Given the description of an element on the screen output the (x, y) to click on. 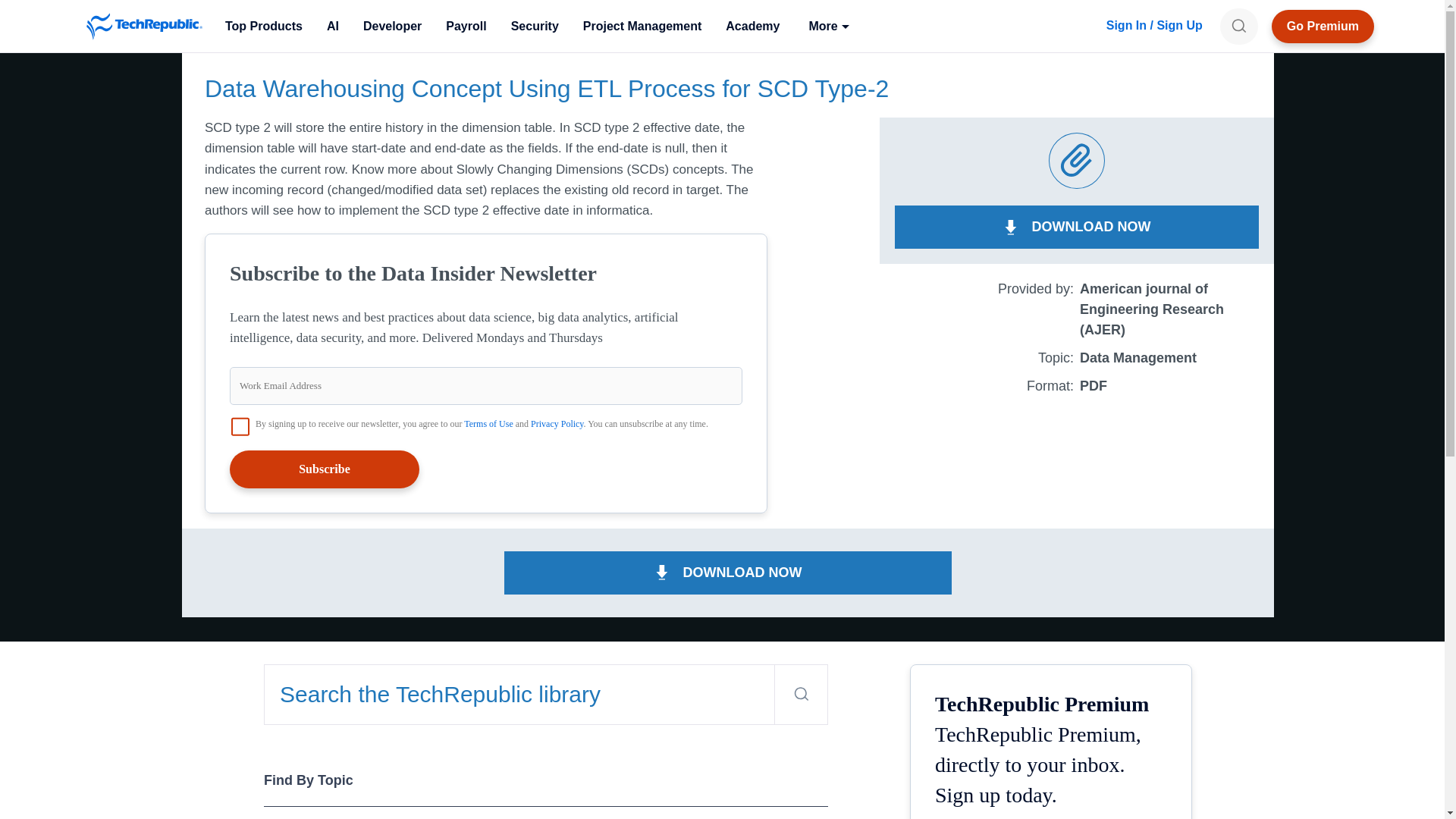
TechRepublic Premium (1322, 25)
DOWNLOAD NOW (1077, 226)
AI (332, 26)
TechRepublic (143, 25)
Academy (752, 26)
Top Products (263, 26)
DOWNLOAD NOW (727, 572)
Subscribe (324, 469)
Privacy Policy (557, 423)
TechRepublic (143, 25)
Go Premium (1322, 25)
Terms of Use (488, 423)
Developer (392, 26)
TechRepublic (143, 25)
Security (534, 26)
